Given the description of an element on the screen output the (x, y) to click on. 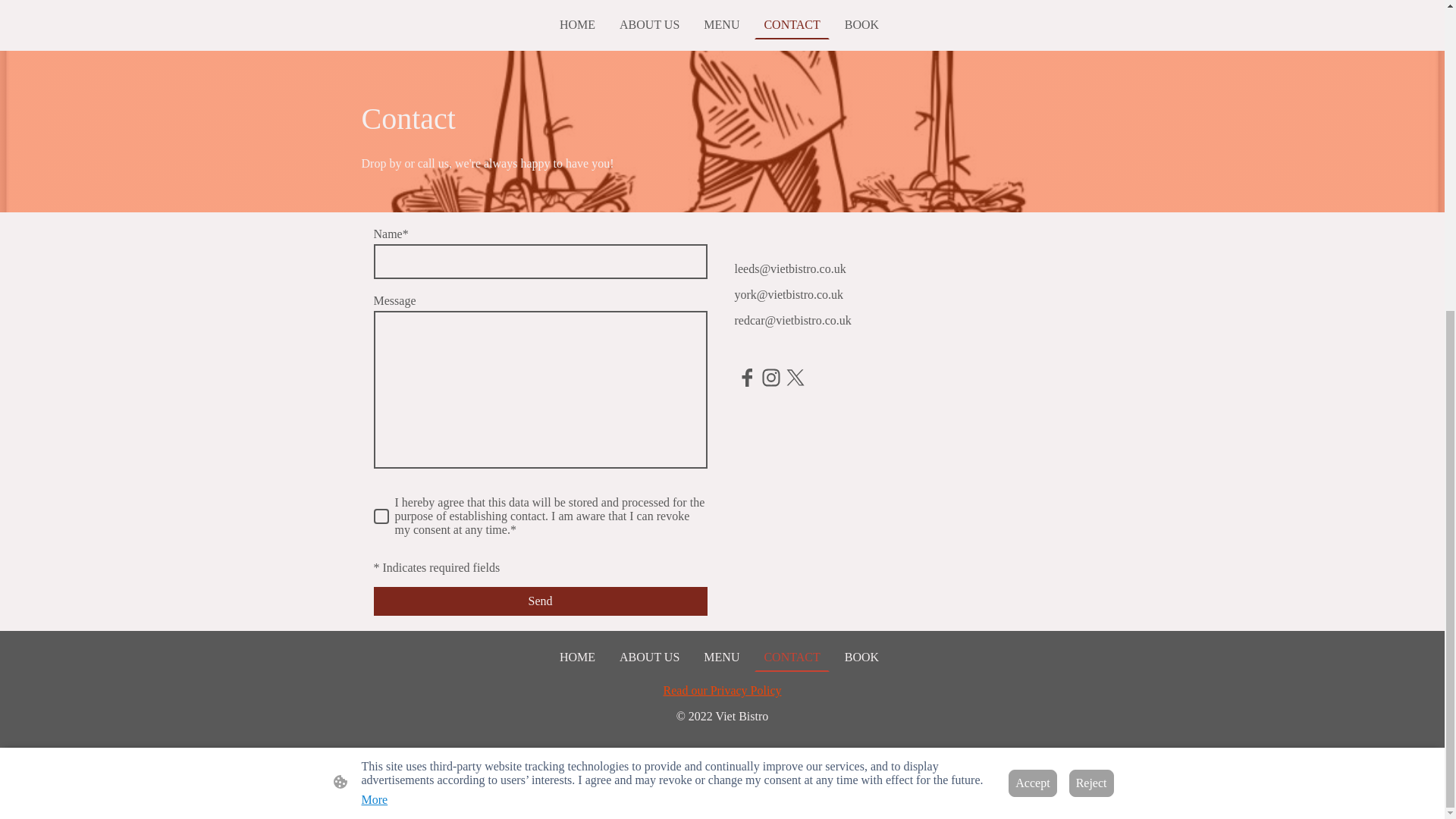
HOME (576, 24)
Send (539, 601)
CONTACT (791, 24)
BOOK (861, 657)
MENU (720, 24)
More (374, 305)
MENU (720, 657)
HOME (576, 657)
CONTACT (791, 657)
Read our Privacy Policy (722, 689)
